Given the description of an element on the screen output the (x, y) to click on. 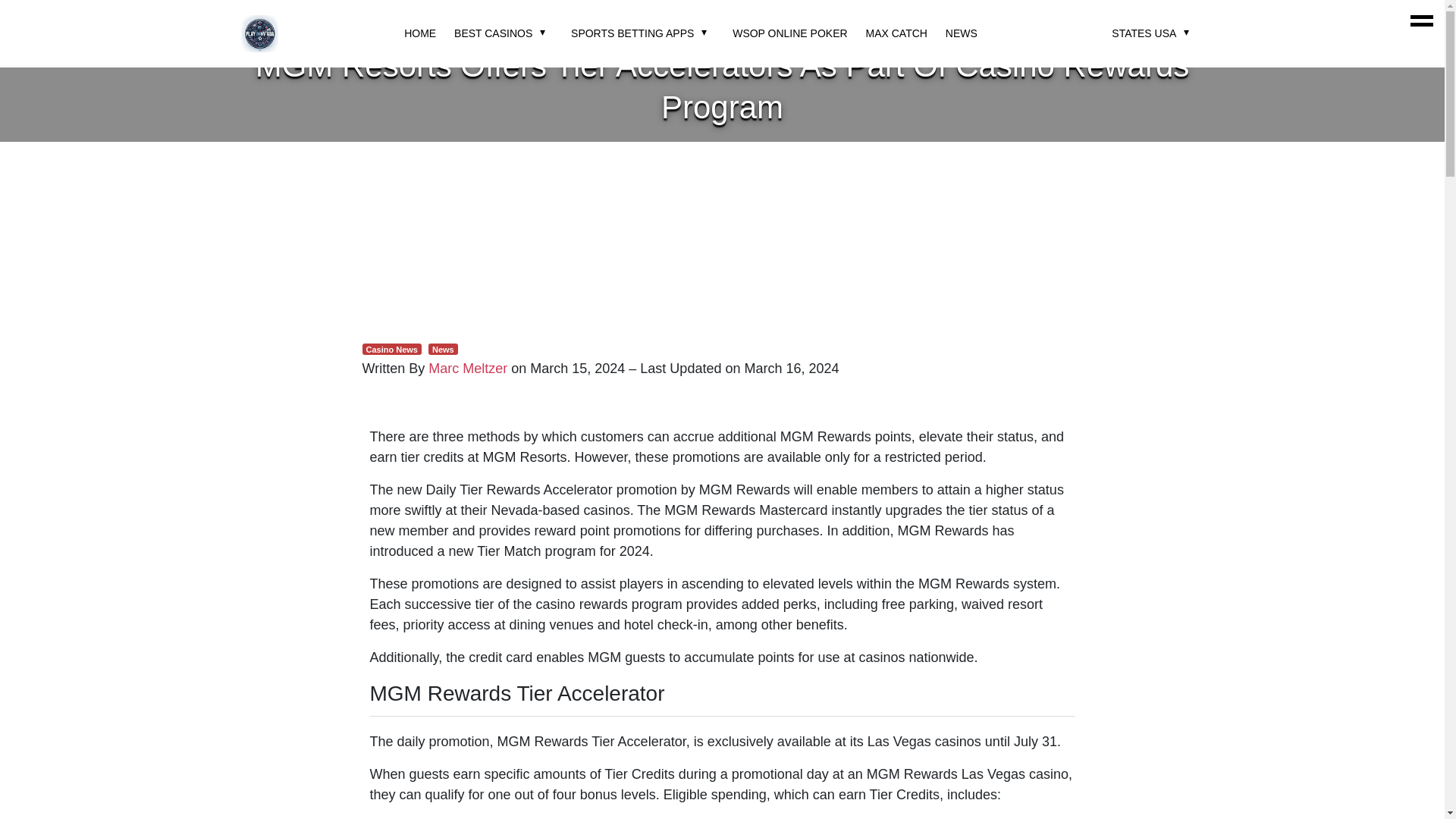
News (443, 348)
HOME (419, 33)
BEST CASINOS (493, 33)
SPORTS BETTING APPS (632, 33)
Marc Meltzer (467, 368)
STATES USA (1143, 33)
NEWS (960, 33)
WSOP ONLINE POKER (789, 33)
MAX CATCH (896, 33)
Casino News (392, 348)
